Given the description of an element on the screen output the (x, y) to click on. 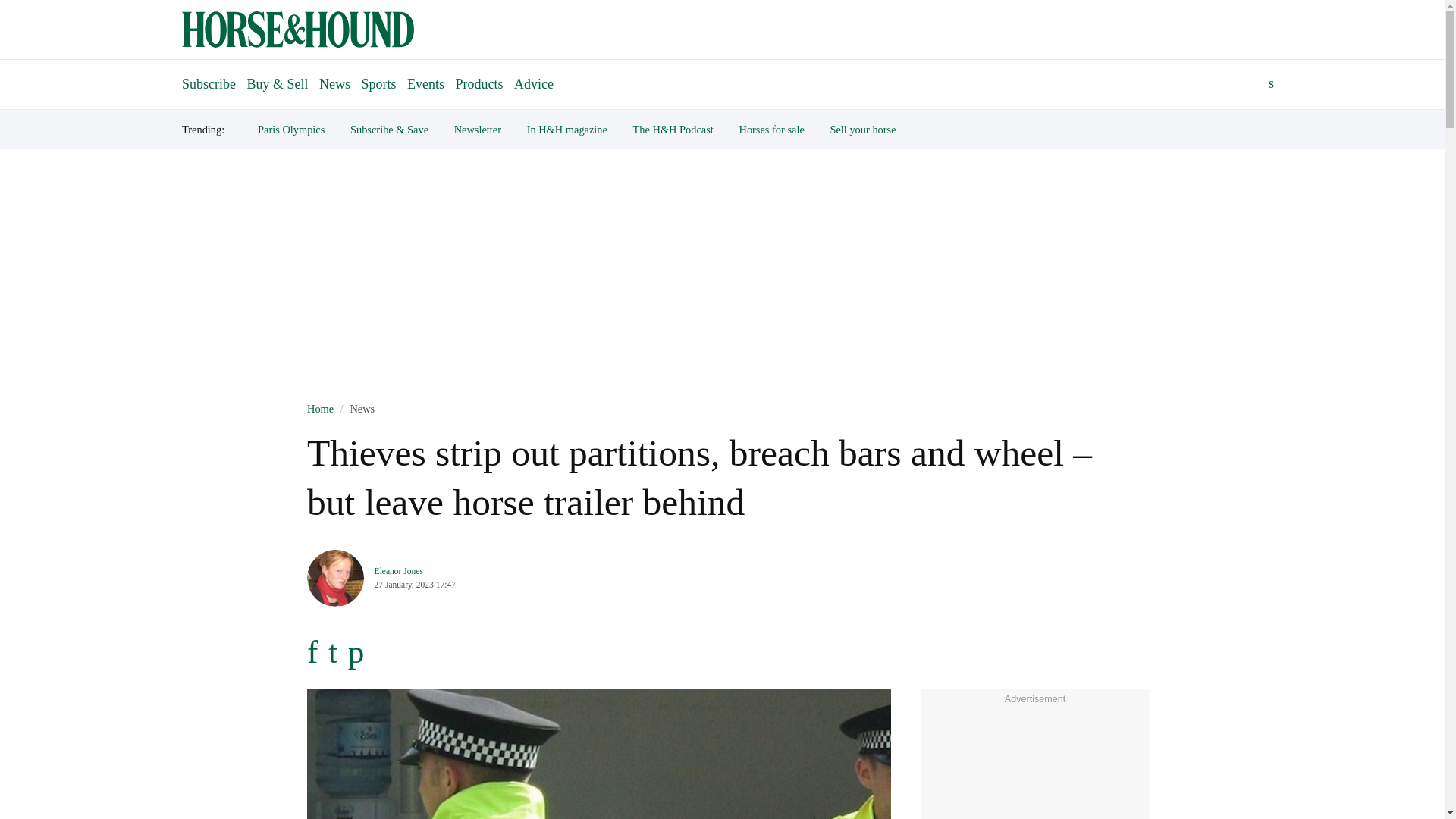
Products (478, 83)
Events (425, 83)
Subscribe (208, 77)
Advice (534, 83)
